Given the description of an element on the screen output the (x, y) to click on. 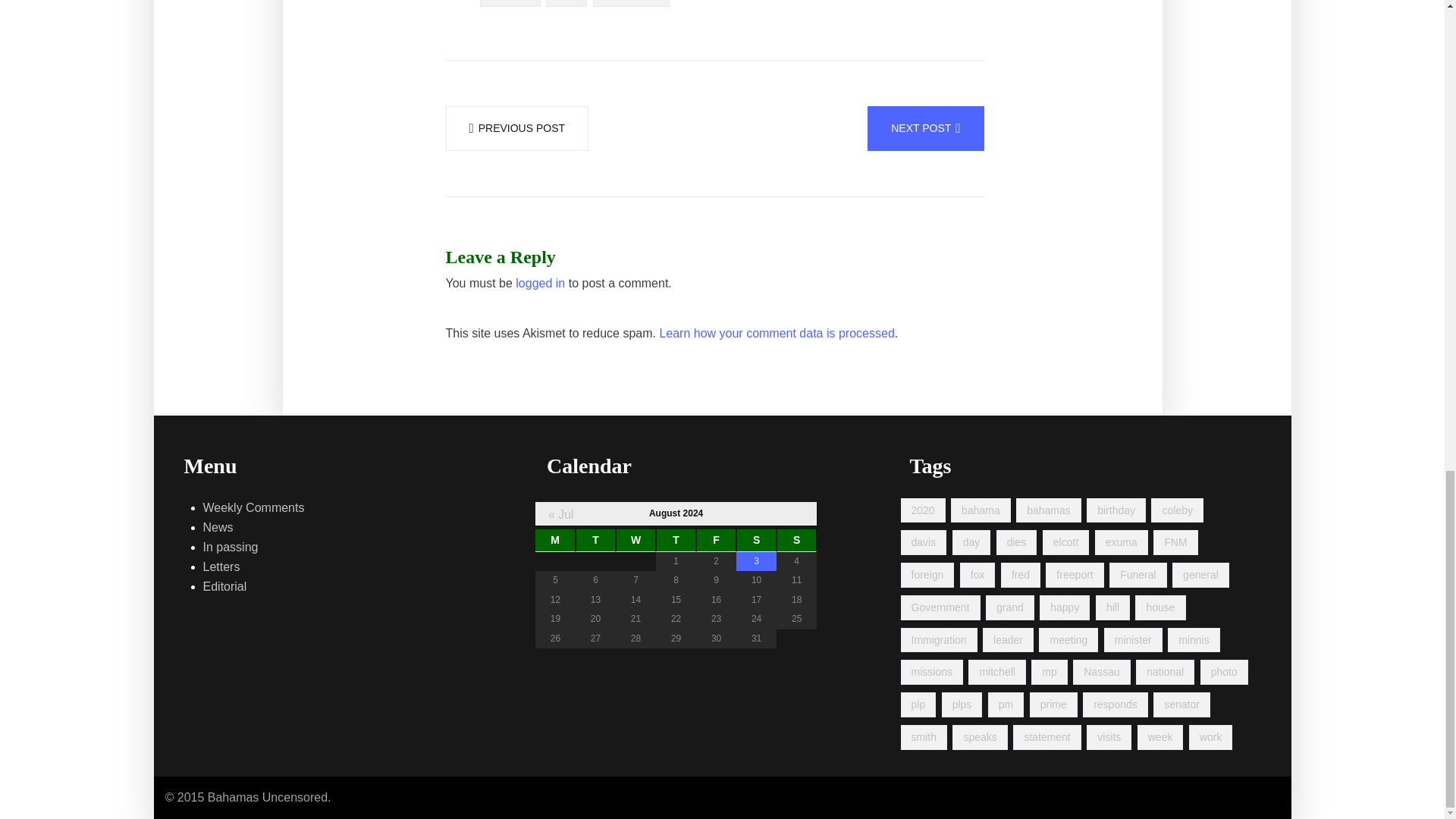
Monday (555, 540)
wilchcombe (630, 3)
Editorial (225, 587)
Sunday (796, 540)
elcott (1065, 542)
In passing (231, 547)
News (217, 527)
explains (510, 3)
birthday (1115, 510)
coleby (1176, 510)
